Given the description of an element on the screen output the (x, y) to click on. 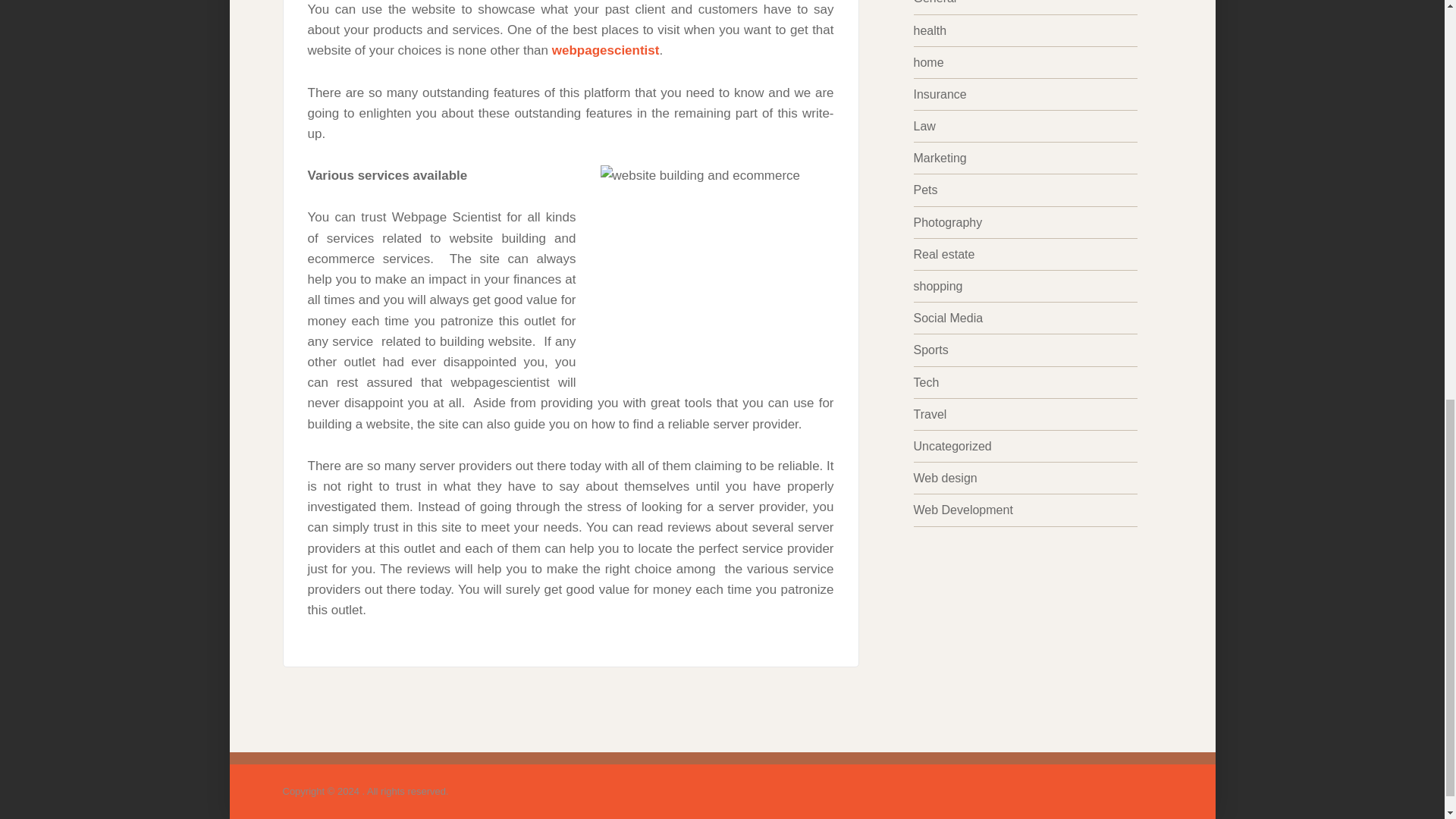
Tech (925, 382)
health (929, 30)
Travel (929, 413)
home (927, 62)
Uncategorized (951, 445)
Sports (929, 349)
Pets (924, 189)
Photography (946, 222)
Marketing (939, 157)
Law (923, 125)
shopping (937, 286)
webpagescientist (605, 50)
General (934, 2)
Real estate (943, 254)
Insurance (939, 93)
